Given the description of an element on the screen output the (x, y) to click on. 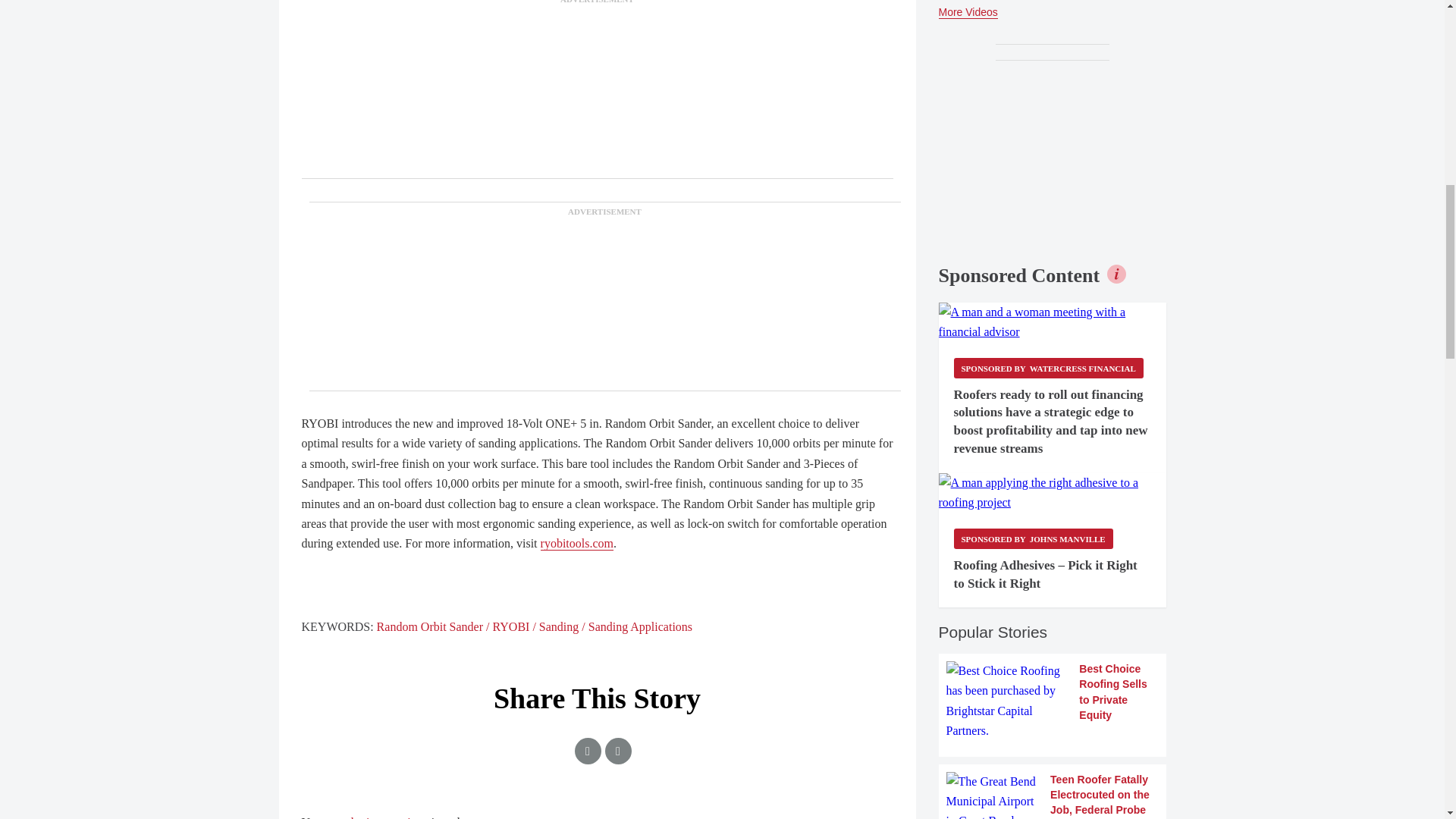
Best Choice Roofing Sells to Private Equity (1052, 701)
Sponsored by Watercress Financial (1047, 367)
Sponsored by Johns Manville (1033, 538)
